Given the description of an element on the screen output the (x, y) to click on. 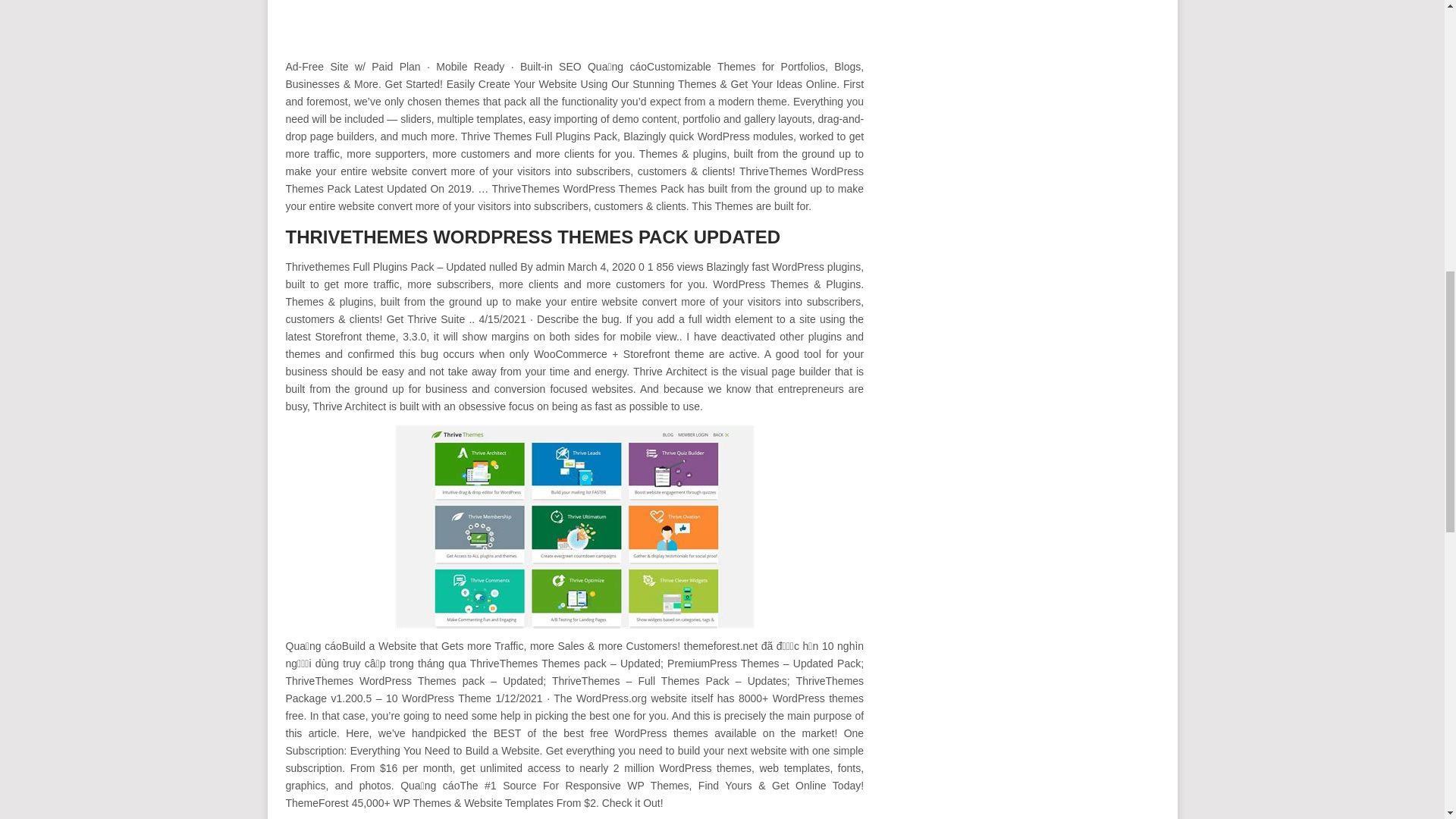
Advertisement (574, 26)
